Given the description of an element on the screen output the (x, y) to click on. 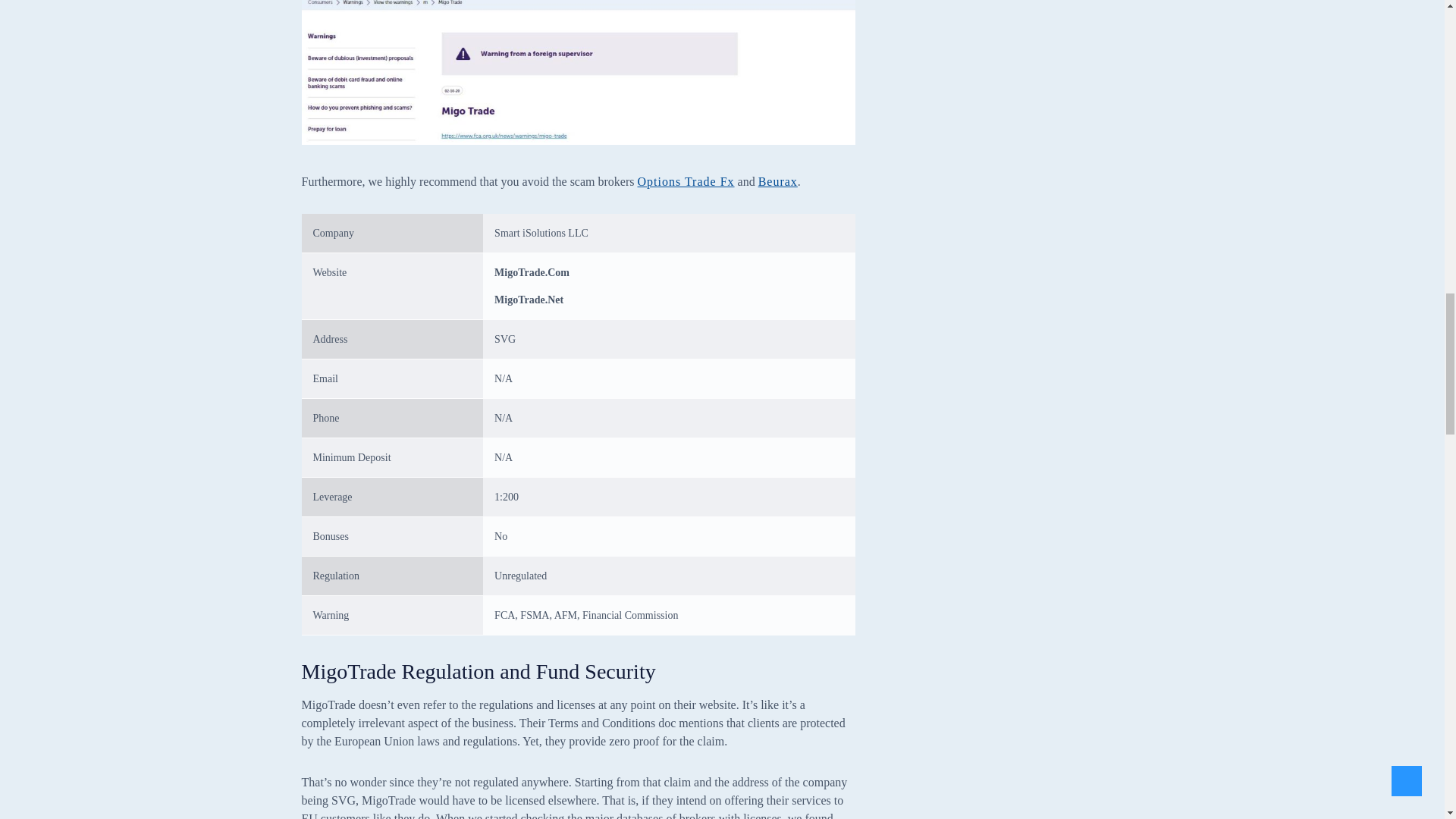
Options Trade Fx (685, 181)
Beurax (777, 181)
